Given the description of an element on the screen output the (x, y) to click on. 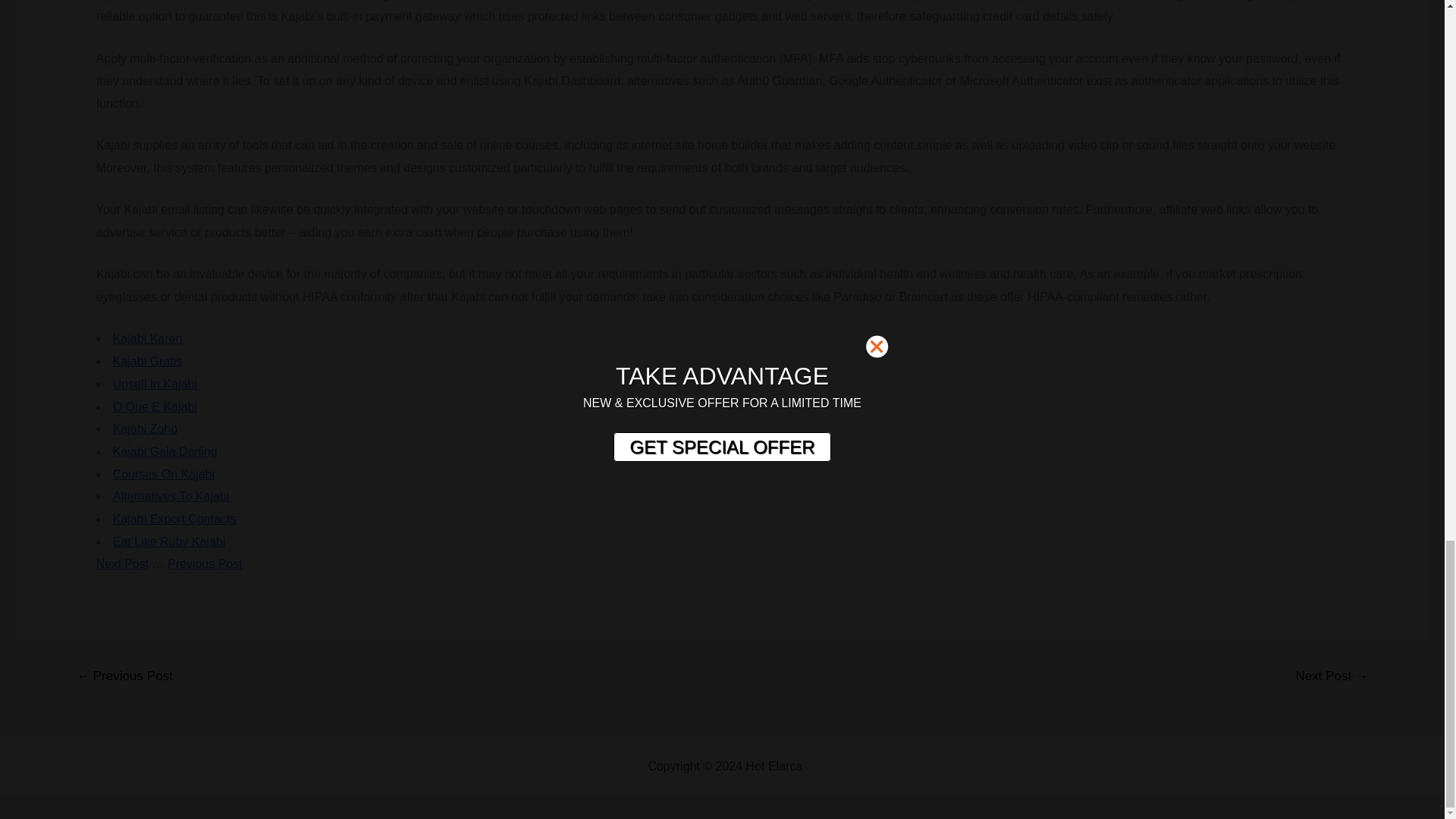
Eat Like Ruby Kajabi (169, 541)
Eat Like Ruby Kajabi (169, 541)
Next Post (122, 563)
Kajabi Export Contacts (174, 518)
Kajabi Gratis (148, 360)
Kajabi Gratis (148, 360)
Kajabi Karen (148, 338)
Alternatives To Kajabi (171, 495)
Kajabi Zoho (145, 428)
Kajabi Karen (148, 338)
O Que E Kajabi (154, 406)
Sitemap (828, 766)
Kajabi Export Contacts (174, 518)
Kajabi Zoho (145, 428)
Courses On Kajabi (163, 473)
